Given the description of an element on the screen output the (x, y) to click on. 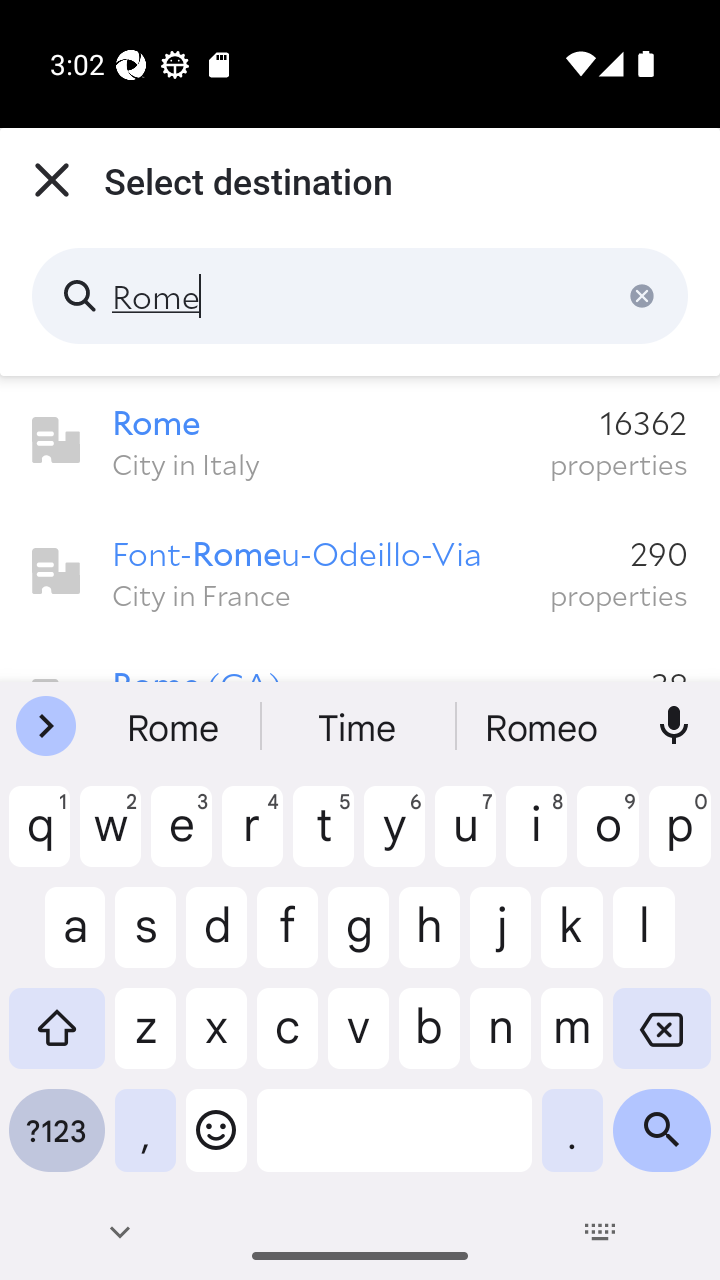
Rome (359, 296)
Rome 16362 City in Italy properties (360, 441)
